Given the description of an element on the screen output the (x, y) to click on. 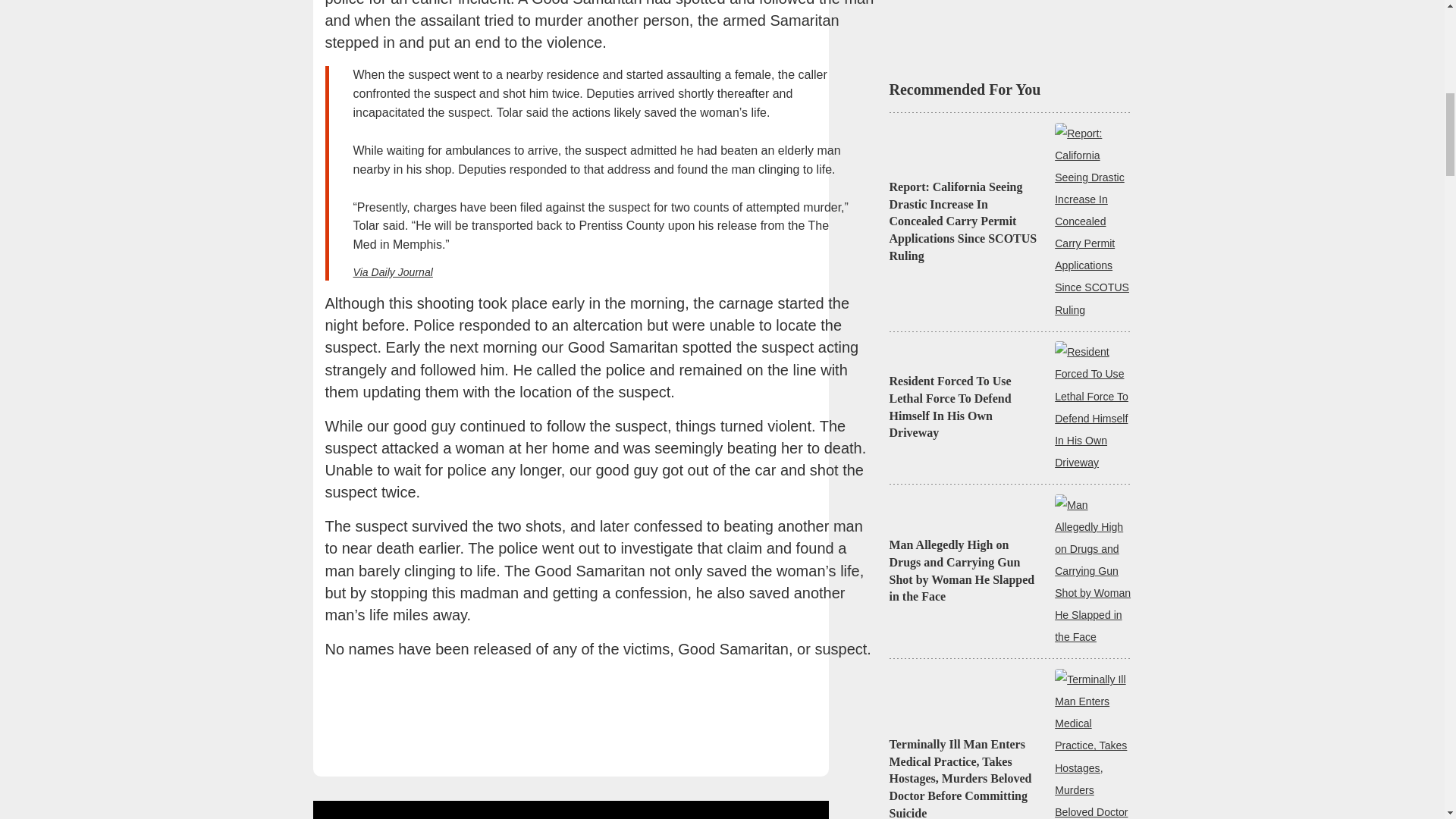
Via Daily Journal (392, 272)
